Given the description of an element on the screen output the (x, y) to click on. 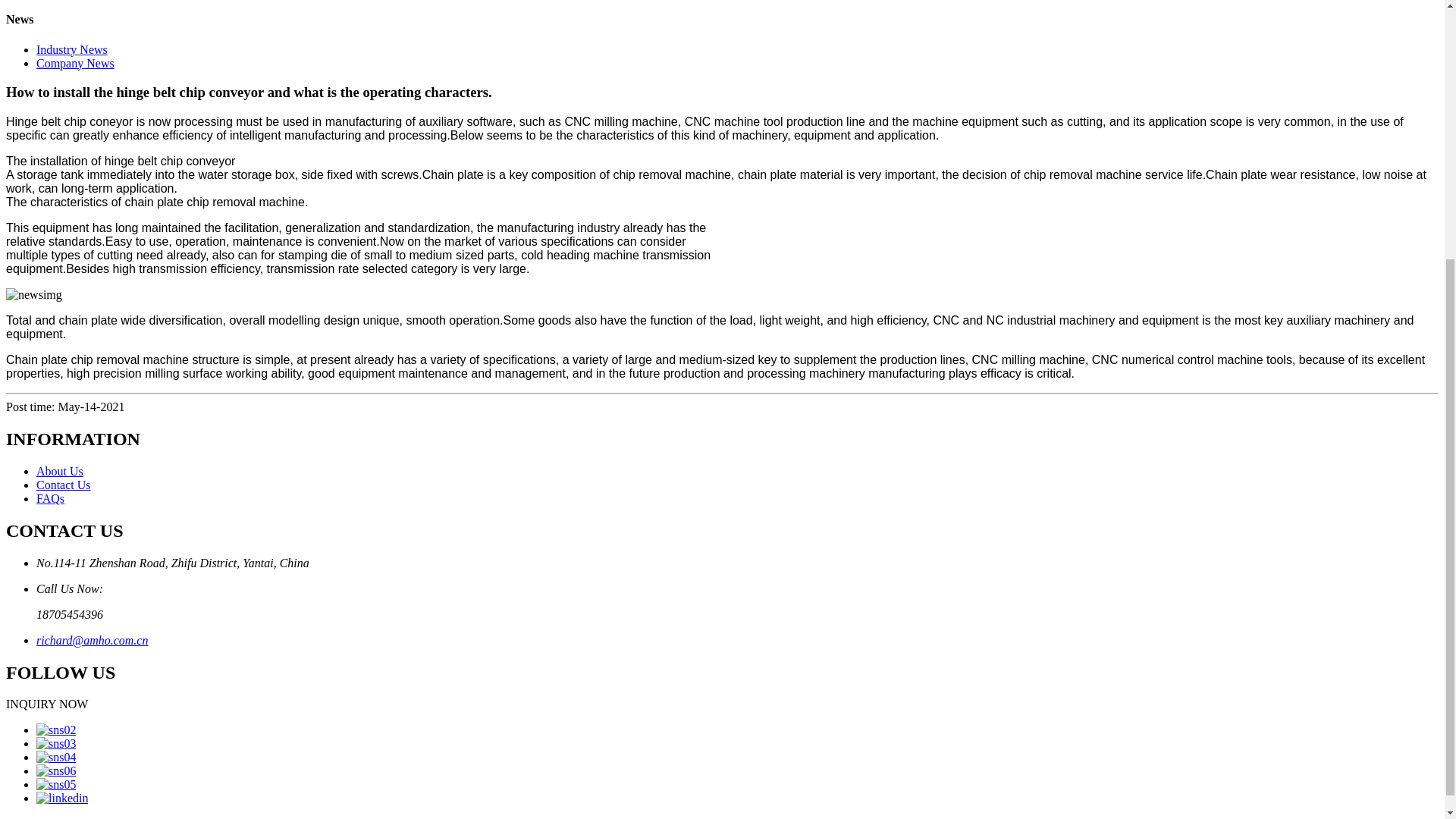
Industry News (71, 49)
About Us (59, 471)
Contact Us (63, 484)
INQUIRY NOW (46, 703)
FAQs (50, 498)
Company News (75, 62)
